Given the description of an element on the screen output the (x, y) to click on. 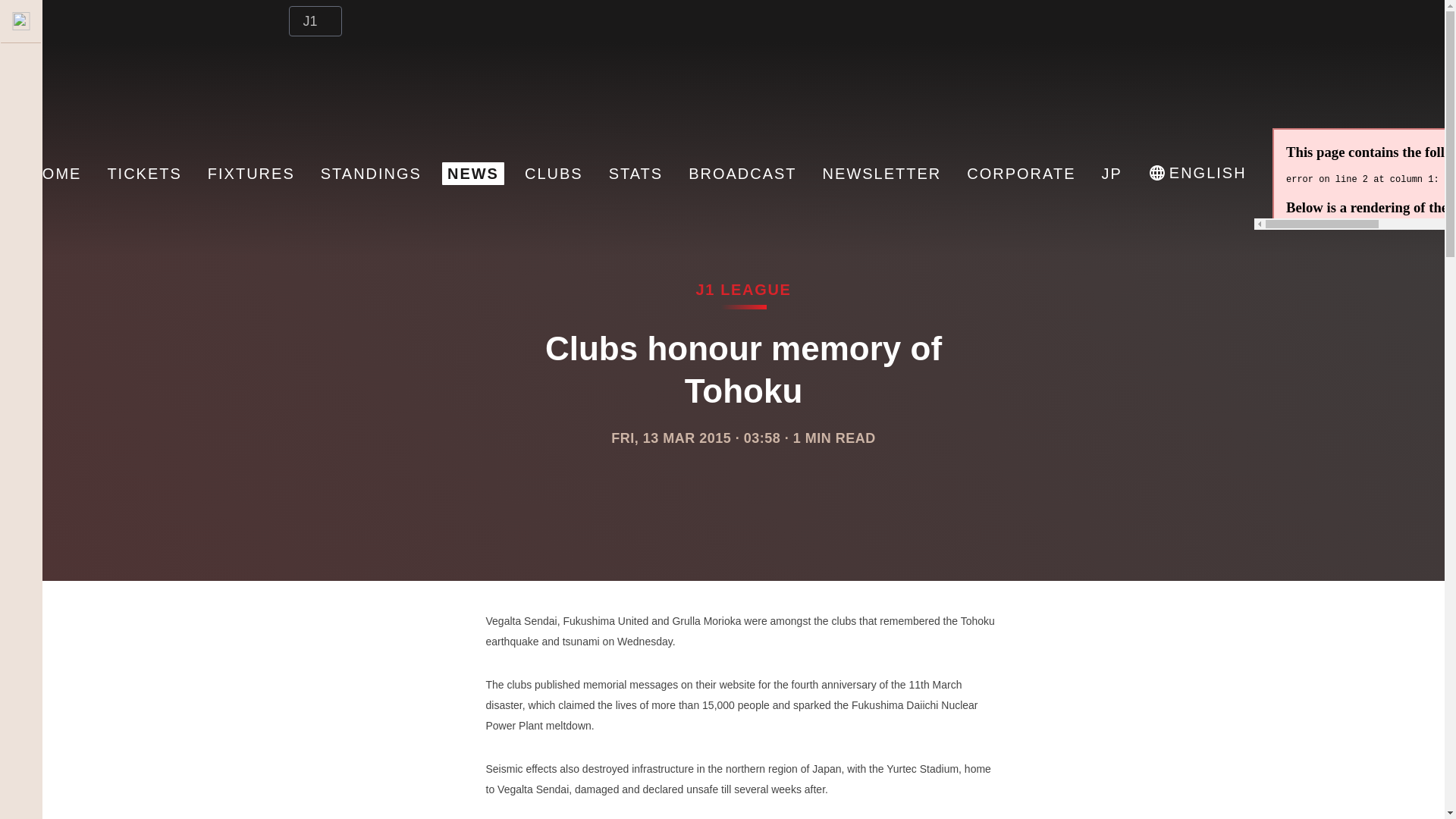
CLUBS (553, 173)
TICKETS (143, 173)
FIXTURES (250, 173)
STATS (636, 173)
JP (1111, 173)
NEWS (472, 173)
BROADCAST (742, 173)
STANDINGS (370, 173)
CORPORATE (1020, 173)
HOME (54, 173)
